Given the description of an element on the screen output the (x, y) to click on. 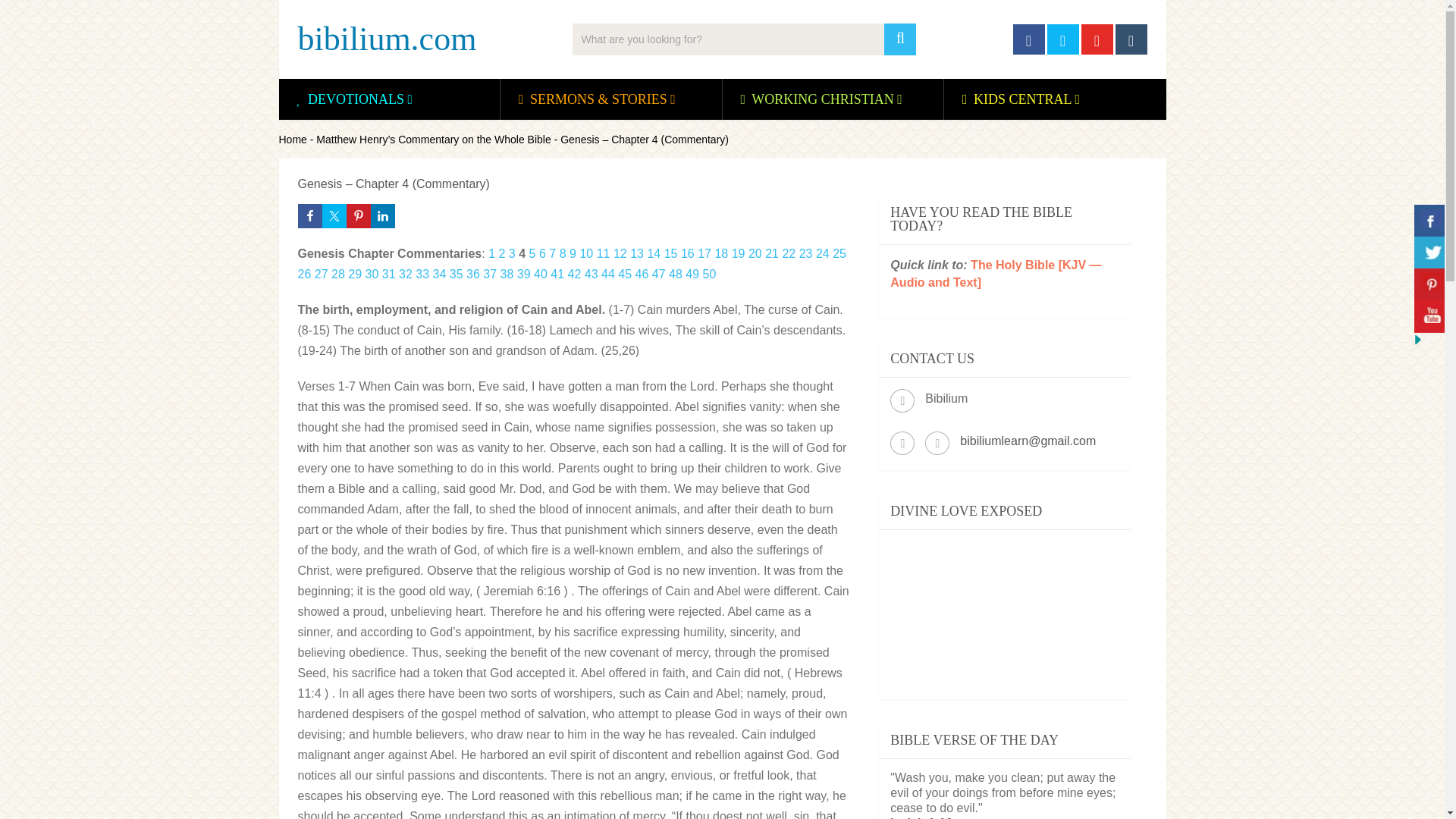
Home (293, 139)
Share on Twitter (333, 215)
7 (552, 253)
DEVOTIONALS (356, 98)
14 (653, 253)
3 (511, 253)
22 (787, 253)
8 (562, 253)
9 (572, 253)
20 (754, 253)
Divine Love Exposed (1003, 605)
6 (542, 253)
2 (502, 253)
Share on Facebook (309, 215)
Share on Pinterest (357, 215)
